Given the description of an element on the screen output the (x, y) to click on. 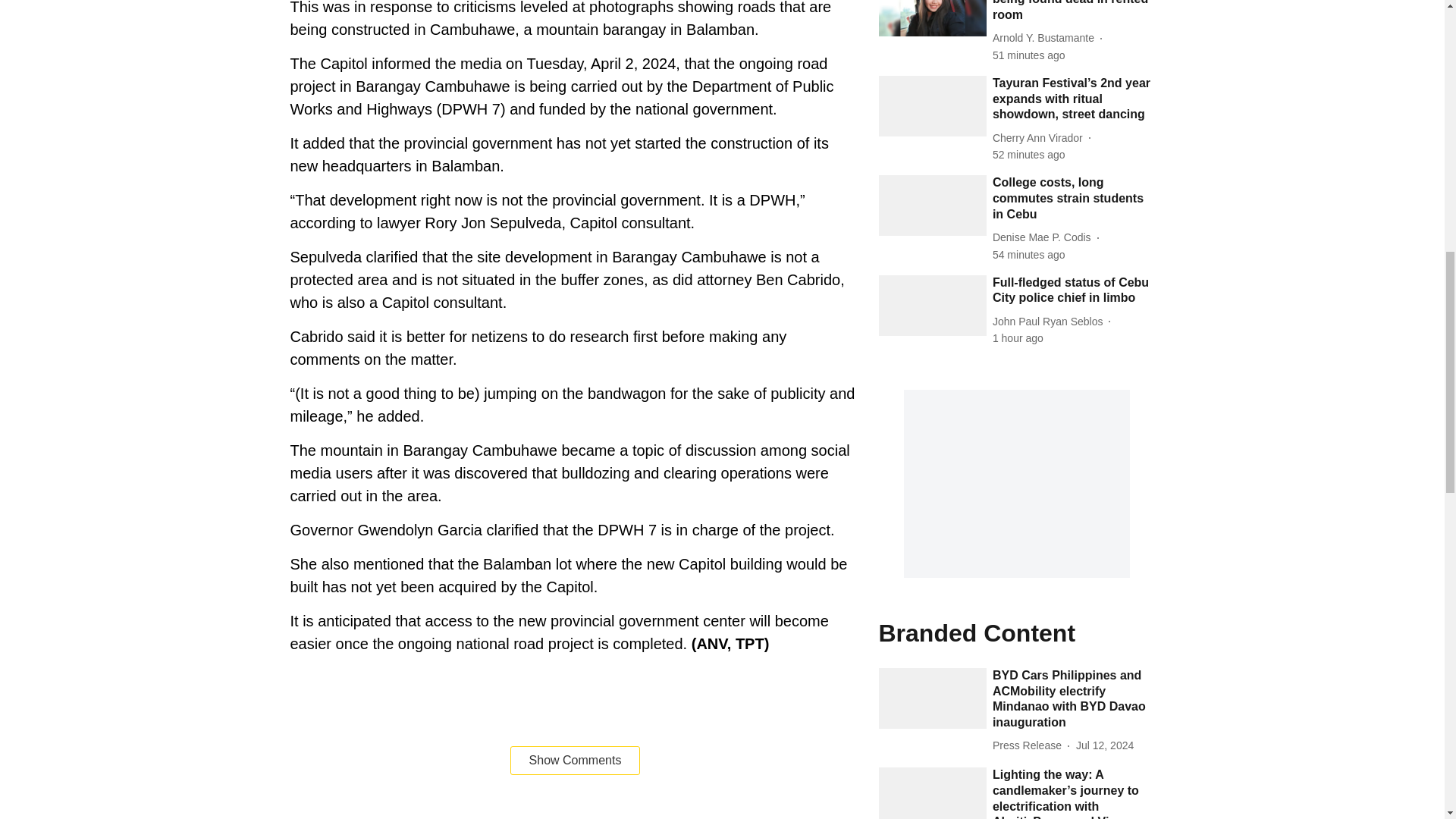
Show Comments (575, 760)
2024-08-03 12:07 (1028, 254)
2024-08-03 12:10 (1028, 154)
2024-08-03 12:10 (1028, 55)
2024-08-03 12:01 (1017, 338)
2024-07-12 10:22 (1104, 745)
